Given the description of an element on the screen output the (x, y) to click on. 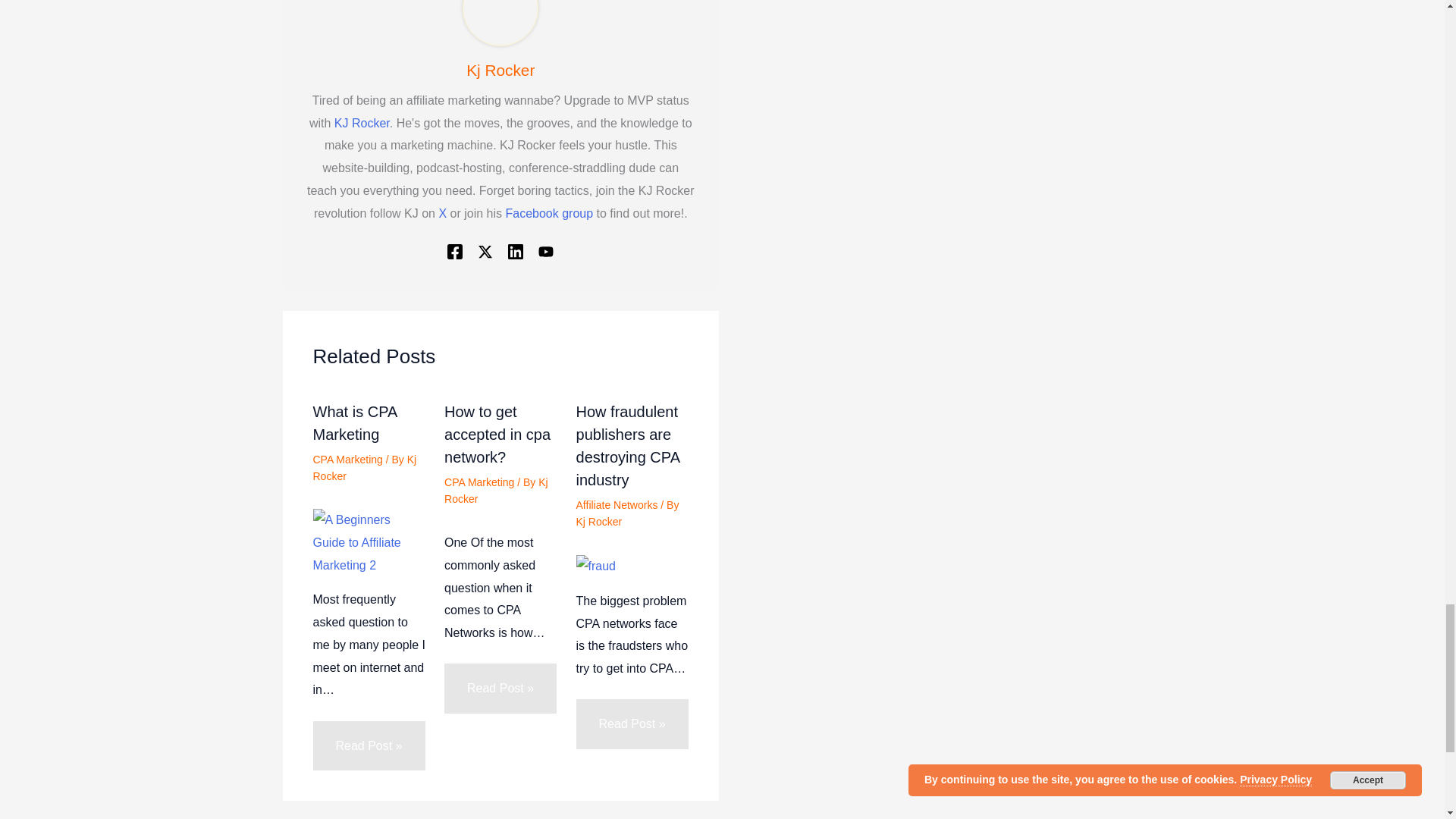
View all posts by Kj Rocker (364, 467)
Kj Rocker (499, 69)
View all posts by Kj Rocker (599, 521)
KJ Rocker (362, 123)
View all posts by Kj Rocker (496, 490)
